Given the description of an element on the screen output the (x, y) to click on. 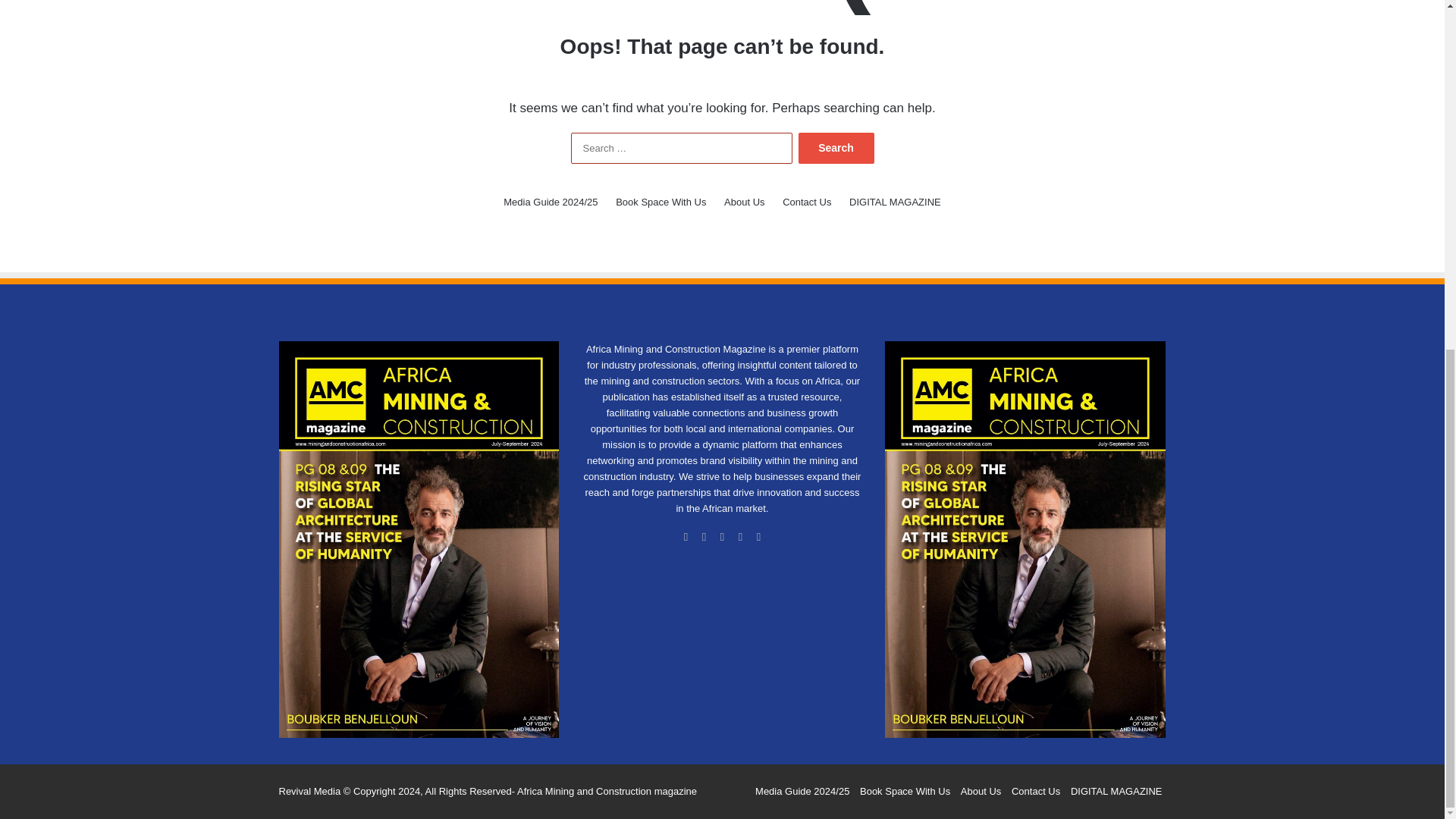
Facebook (685, 536)
DIGITAL MAGAZINE (894, 201)
Book Space With Us (660, 201)
Instagram (758, 536)
X (703, 536)
Contact Us (807, 201)
Search (835, 147)
Search (835, 147)
About Us (743, 201)
YouTube (739, 536)
LinkedIn (721, 536)
Search (835, 147)
